Given the description of an element on the screen output the (x, y) to click on. 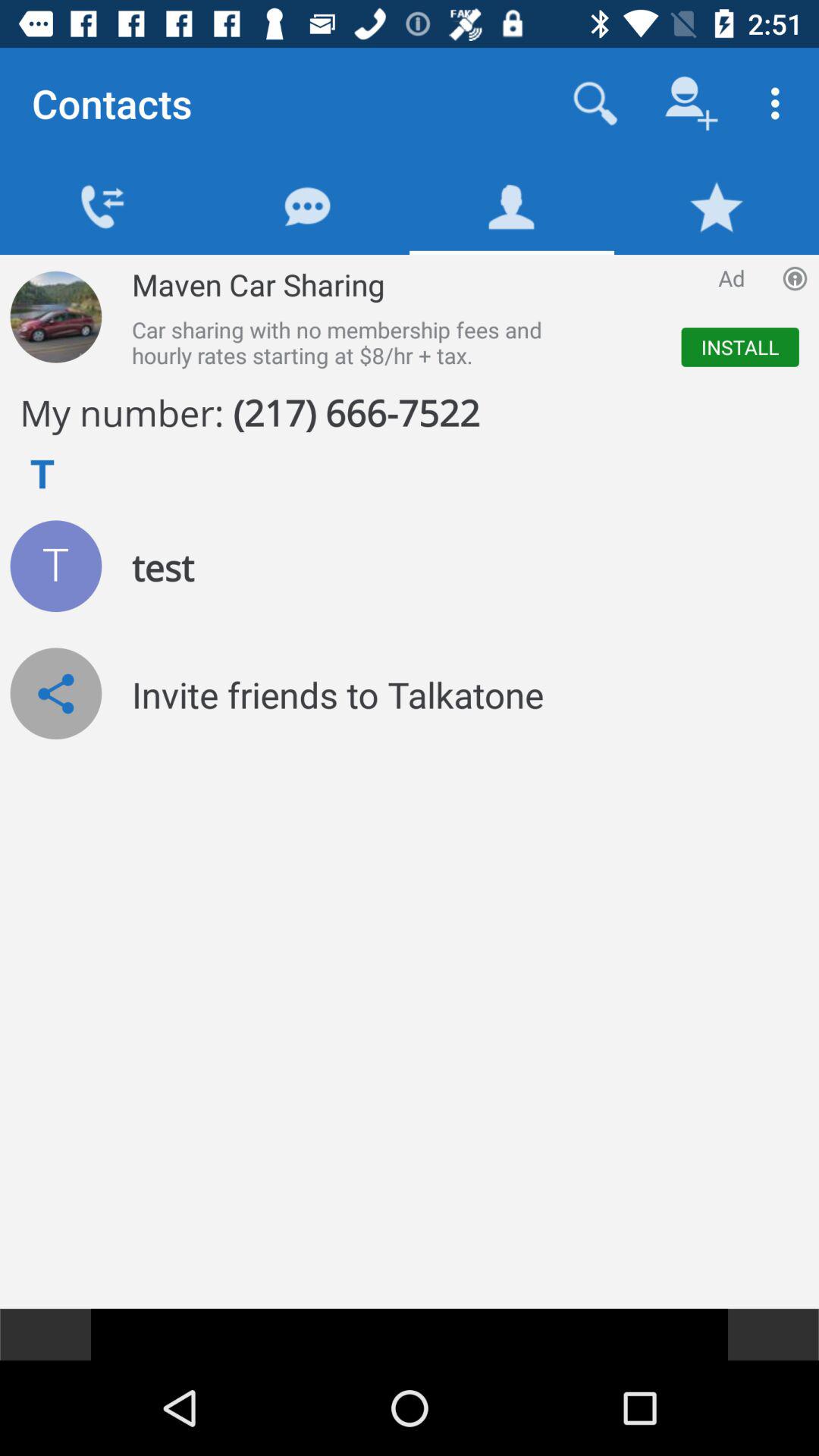
an advertisement (55, 316)
